Given the description of an element on the screen output the (x, y) to click on. 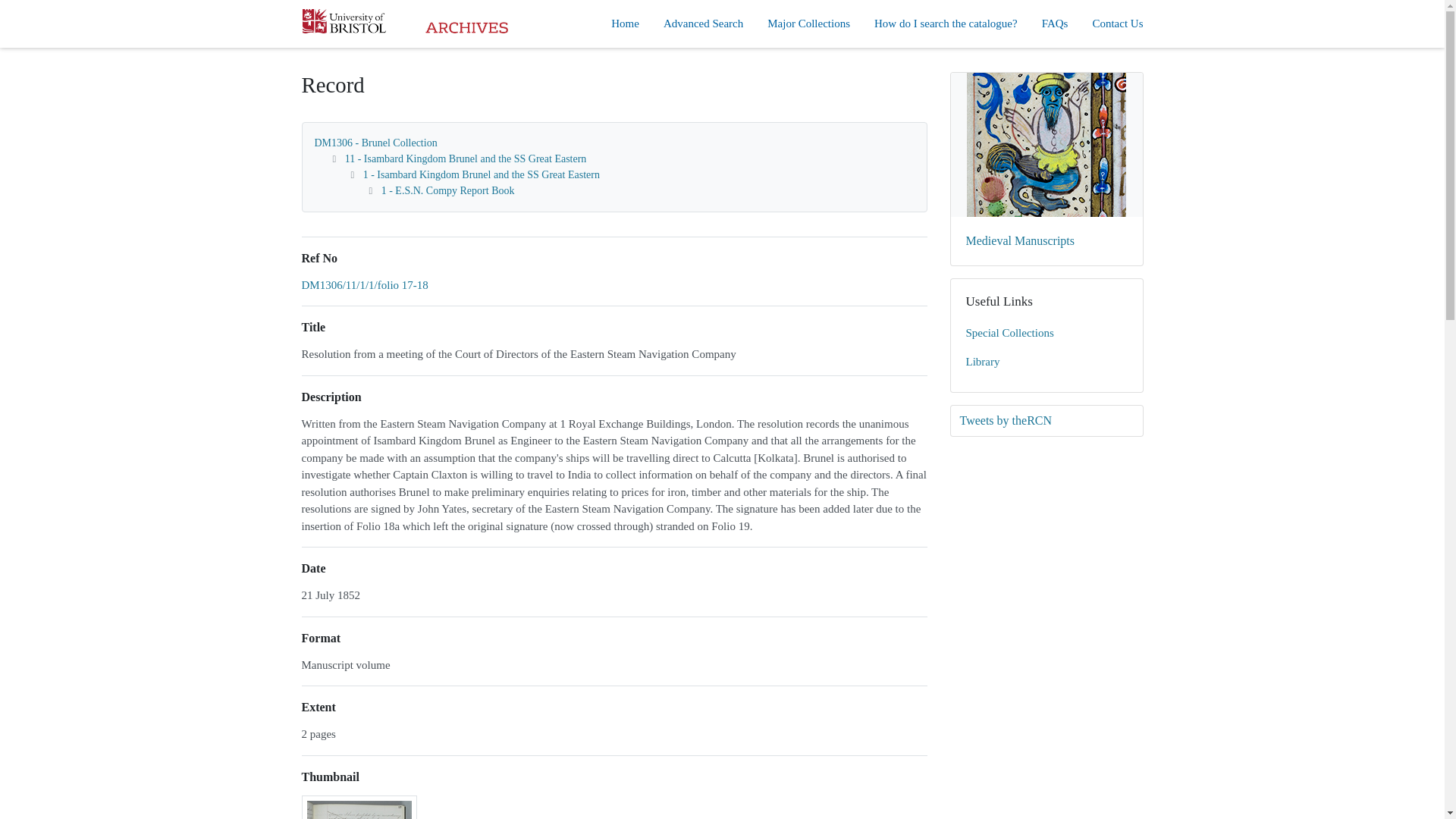
Browse record in hierarchy. (364, 285)
1 - E.S.N. Compy Report Book (448, 190)
DM1306 - Brunel Collection (375, 142)
Advanced Search (702, 23)
Special Collections (1046, 333)
Medieval Manuscripts (1046, 168)
Contact Us (1117, 23)
1 - Isambard Kingdom Brunel and the SS Great Eastern (480, 174)
How do I search the catalogue? (946, 23)
Homepage (404, 23)
